Given the description of an element on the screen output the (x, y) to click on. 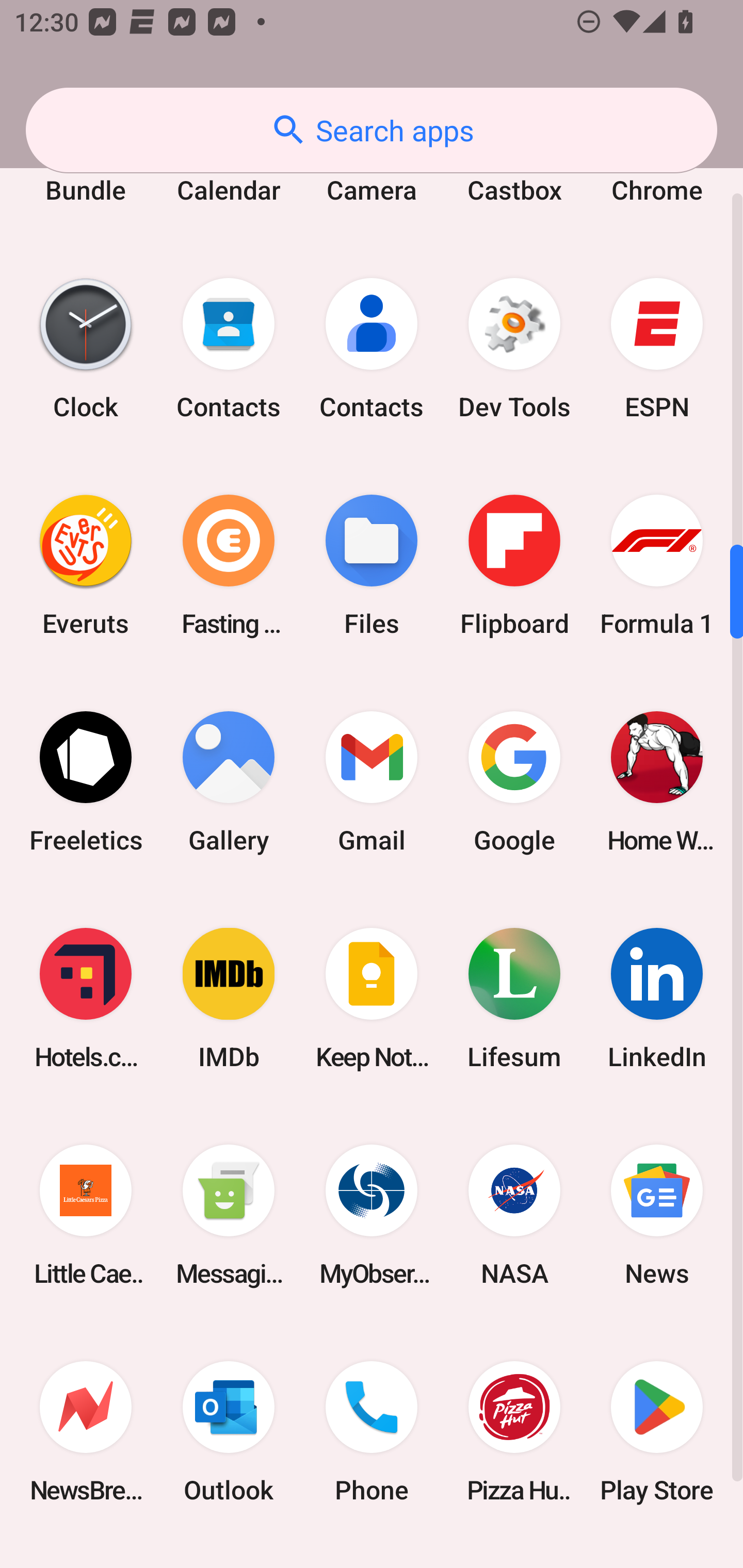
  Search apps (371, 130)
Clock (85, 347)
Contacts (228, 347)
Contacts (371, 347)
Dev Tools (514, 347)
ESPN (656, 347)
Everuts (85, 565)
Fasting Coach (228, 565)
Files (371, 565)
Flipboard (514, 565)
Formula 1 (656, 565)
Freeletics (85, 782)
Gallery (228, 782)
Gmail (371, 782)
Google (514, 782)
Home Workout (656, 782)
Hotels.com (85, 998)
IMDb (228, 998)
Keep Notes (371, 998)
Lifesum (514, 998)
LinkedIn (656, 998)
Little Caesars Pizza (85, 1215)
Messaging (228, 1215)
MyObservatory (371, 1215)
NASA (514, 1215)
News (656, 1215)
NewsBreak (85, 1431)
Outlook (228, 1431)
Phone (371, 1431)
Pizza Hut HK & Macau (514, 1431)
Play Store (656, 1431)
